Given the description of an element on the screen output the (x, y) to click on. 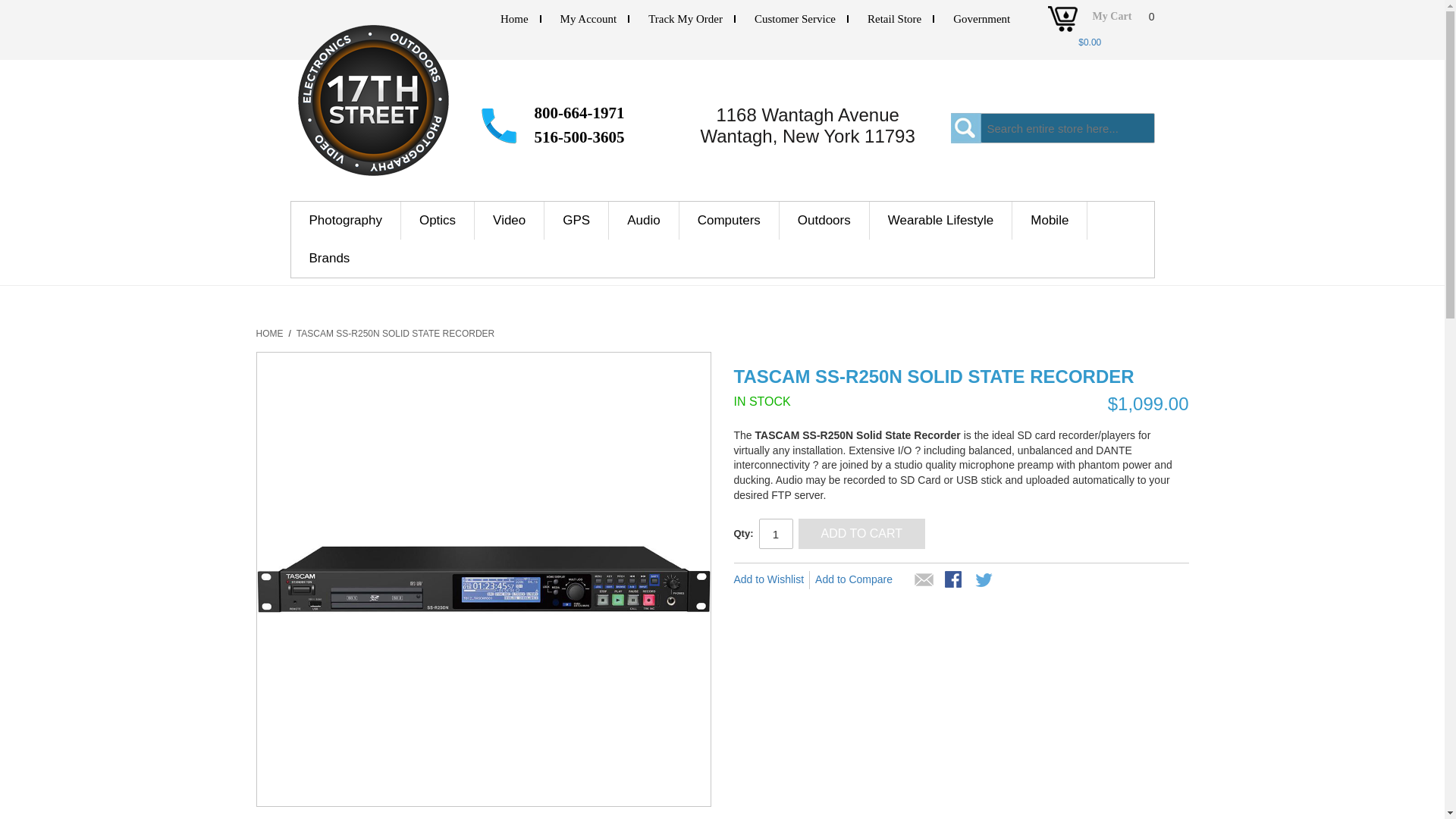
Search (965, 128)
Photography (346, 220)
Add to Cart (860, 533)
Retail Store (894, 19)
Share on Twitter (984, 580)
Government (981, 19)
Video (509, 220)
Go to Home Page (269, 333)
Home (514, 19)
My Cart (1113, 20)
